Given the description of an element on the screen output the (x, y) to click on. 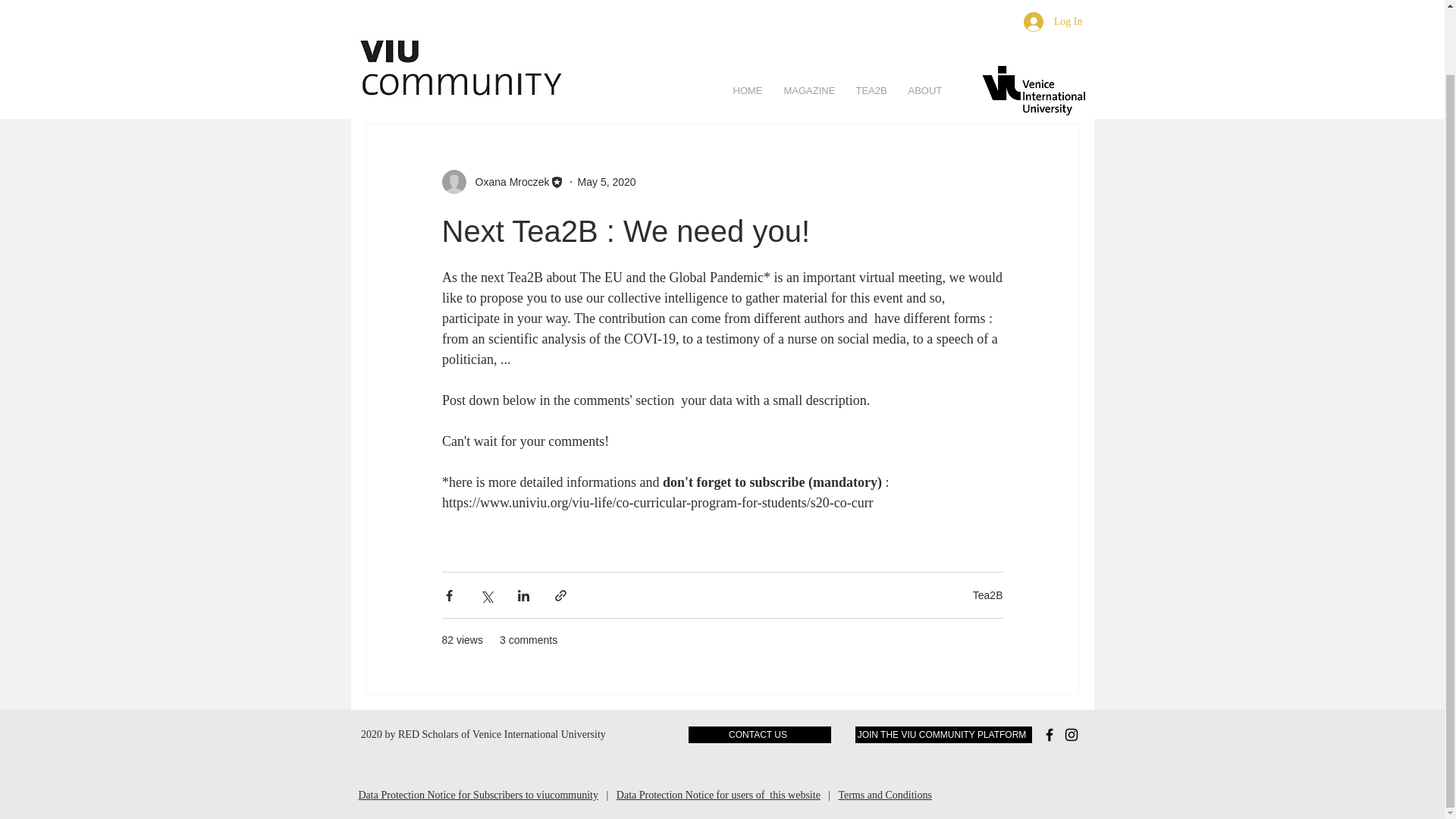
JOIN THE VIU COMMUNITY PLATFORM (944, 734)
Oxana Mroczek (506, 182)
Data Protection Notice for Subscribers to viucommunity (478, 794)
HOME (747, 19)
ABOUT (924, 19)
Data Protection Notice for users of  this website (718, 794)
Articles (595, 78)
Terms and Conditions (884, 794)
Oxana Mroczek (502, 181)
Tea2B (987, 594)
Tea2B (720, 78)
Reflecting VIU (439, 78)
TEA2B (870, 19)
Interviews (525, 78)
May 5, 2020 (607, 182)
